Given the description of an element on the screen output the (x, y) to click on. 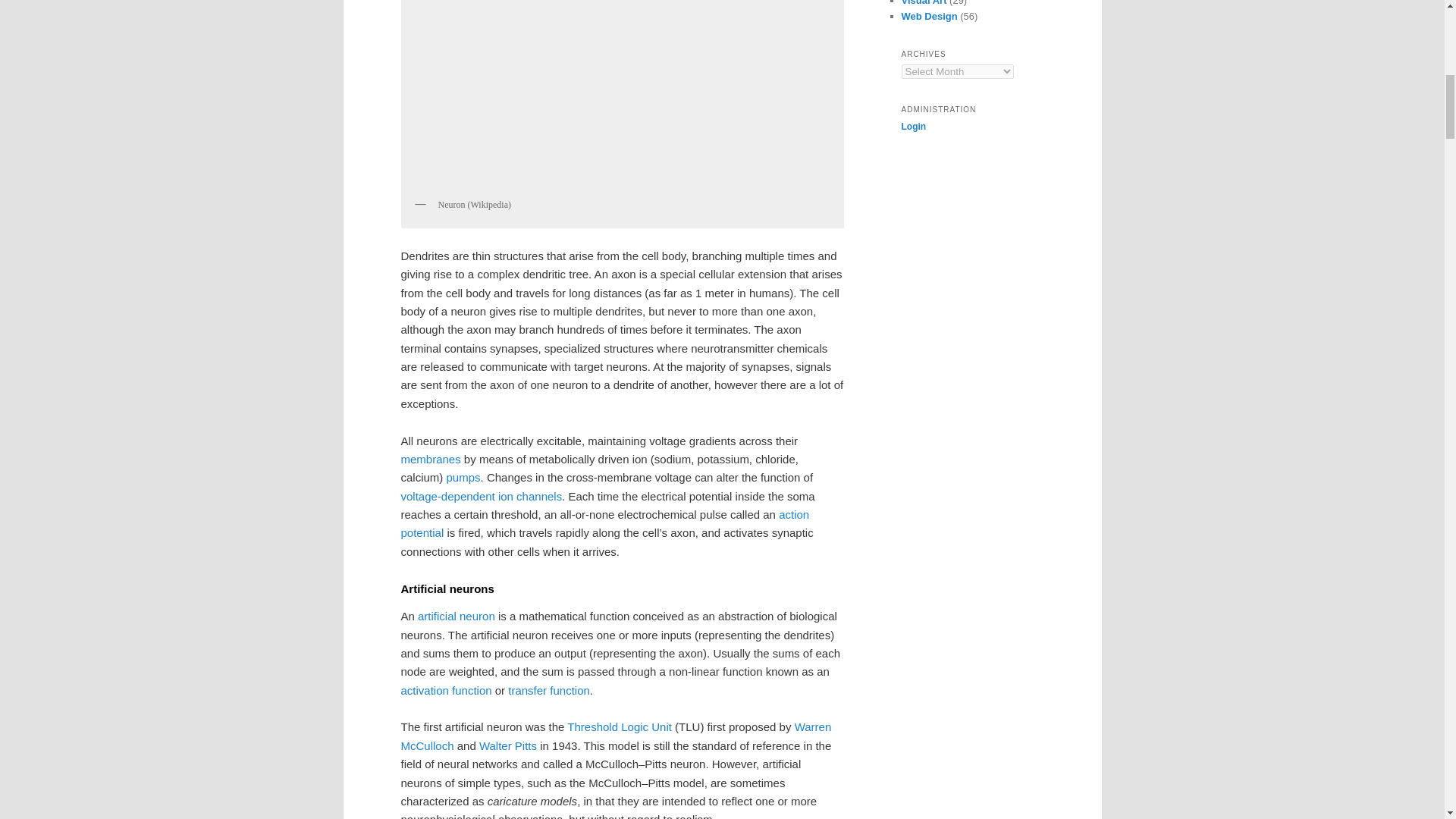
membranes (430, 459)
action potential (604, 522)
cell membrane (430, 459)
voltage-dependent ion channels (481, 495)
Threshold Logic Unit (619, 726)
transfer function (548, 689)
Walter Pitts (508, 745)
Warren McCulloch (615, 735)
activation function (446, 689)
artificial neuron (456, 615)
pumps (463, 477)
